Given the description of an element on the screen output the (x, y) to click on. 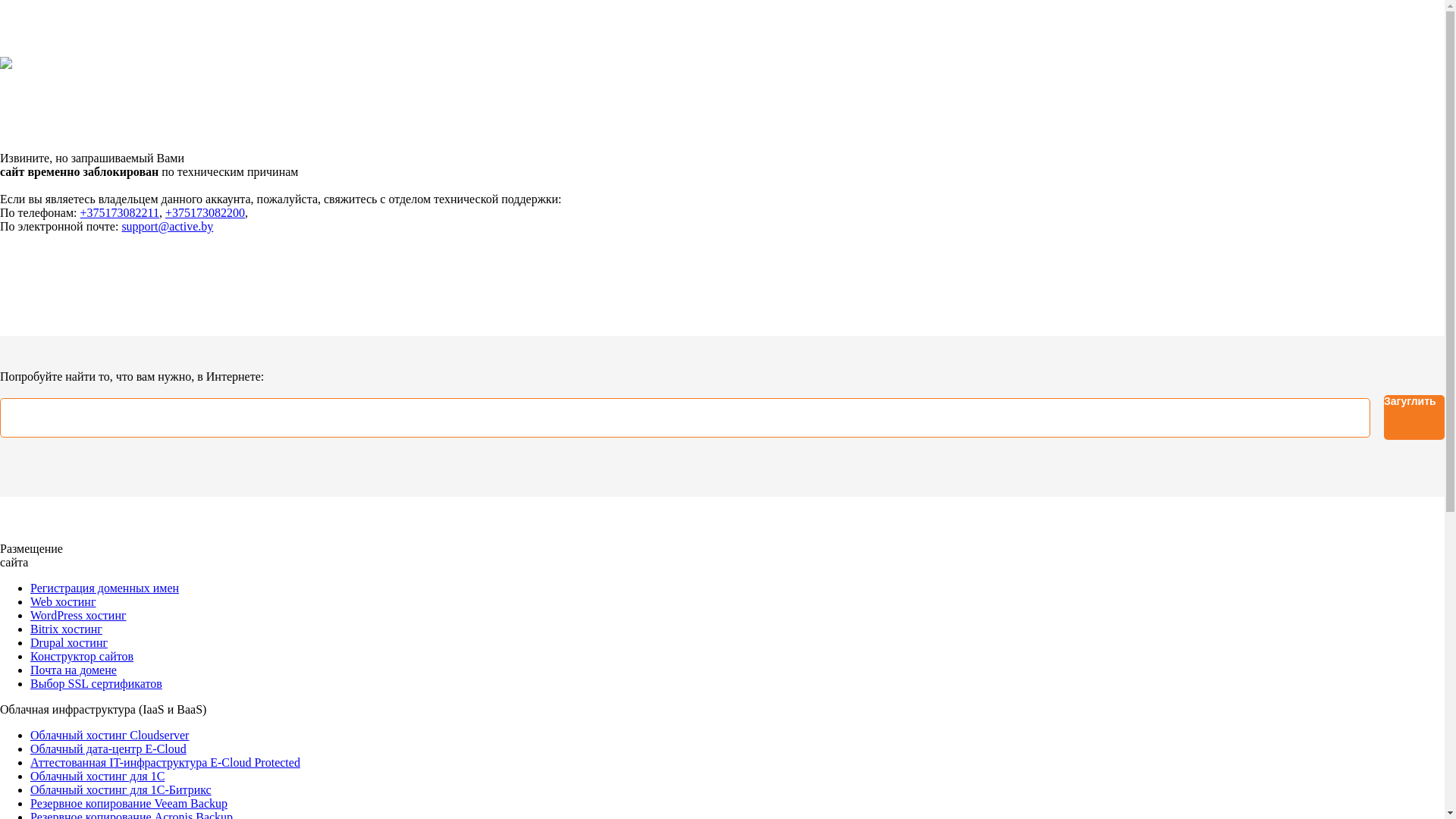
+375173082211 Element type: text (119, 212)
+375173082200 Element type: text (204, 212)
support@active.by Element type: text (167, 225)
